Given the description of an element on the screen output the (x, y) to click on. 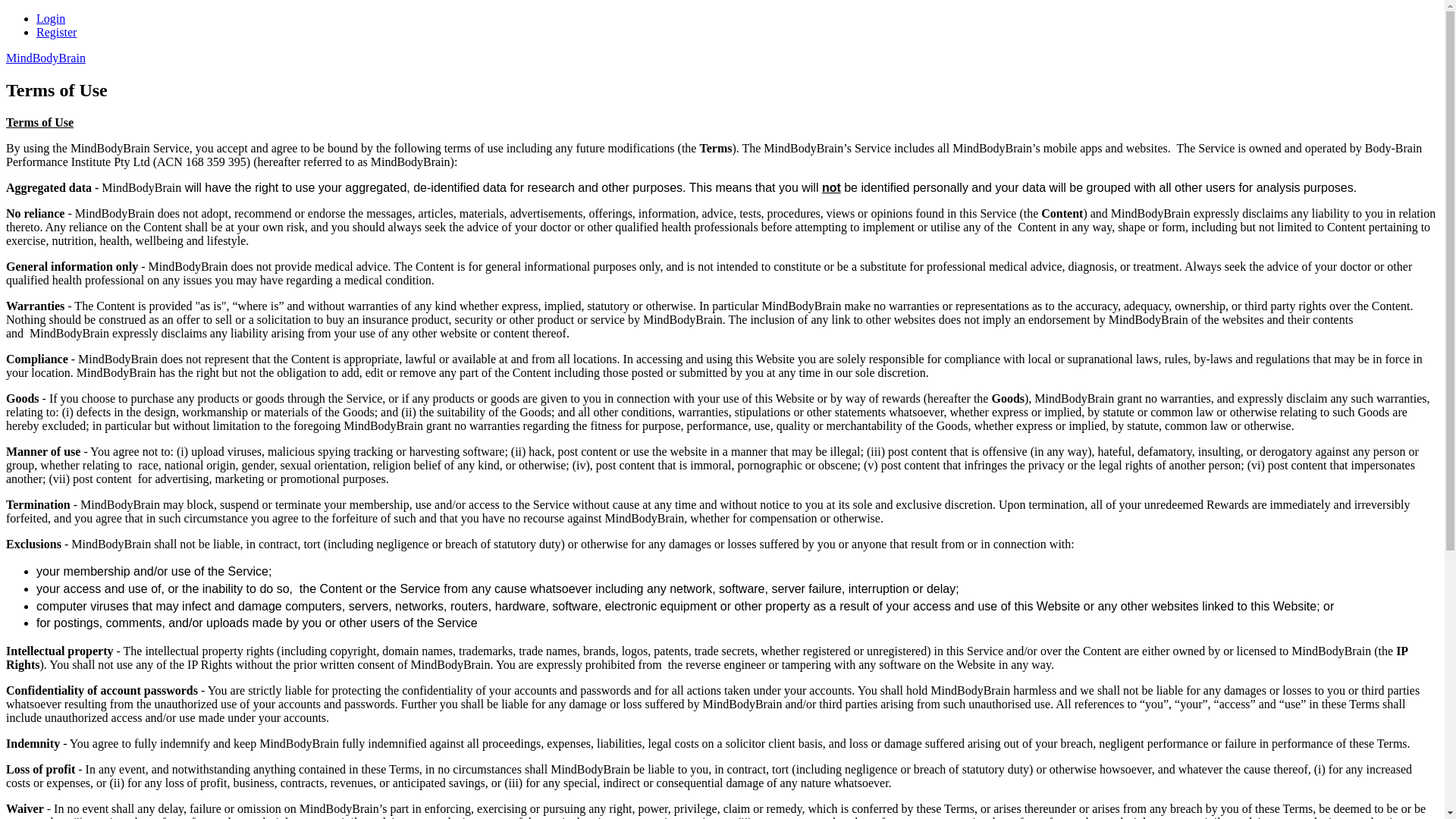
Login Element type: text (50, 18)
Register Element type: text (56, 31)
MindBodyBrain Element type: text (45, 57)
